Given the description of an element on the screen output the (x, y) to click on. 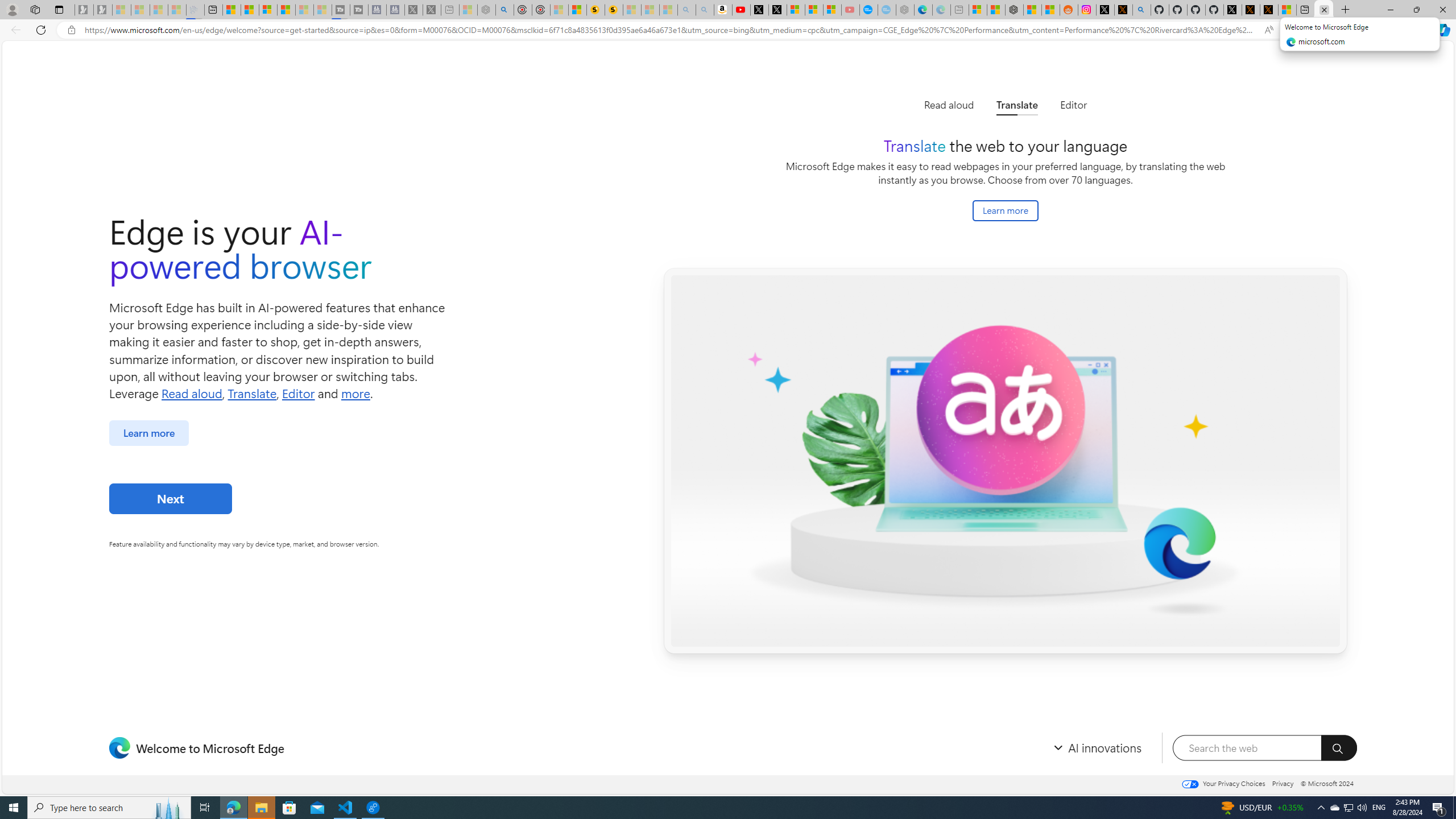
help.x.com | 524: A timeout occurred (1123, 9)
github - Search (1142, 9)
Nordace - Summer Adventures 2024 - Sleeping (486, 9)
poe - Search (504, 9)
